Given the description of an element on the screen output the (x, y) to click on. 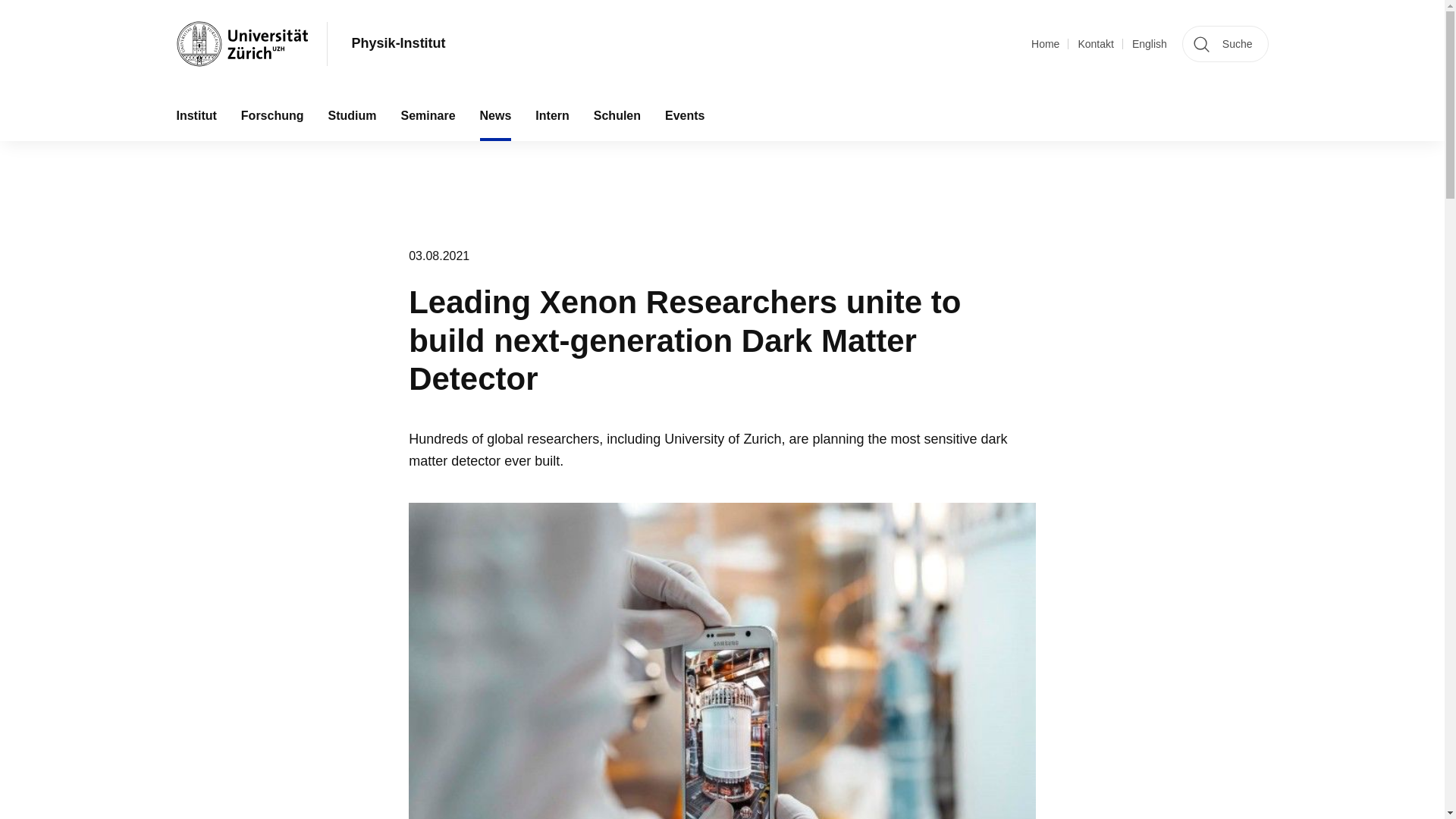
Kontakt (1095, 44)
Physik-Institut (398, 43)
Suche (1225, 43)
Seminare (427, 115)
Home (1044, 44)
Schulen (616, 115)
Events (684, 115)
Studium (351, 115)
Institut (195, 115)
Intern (551, 115)
Forschung (271, 115)
News (495, 115)
English (1149, 44)
